Given the description of an element on the screen output the (x, y) to click on. 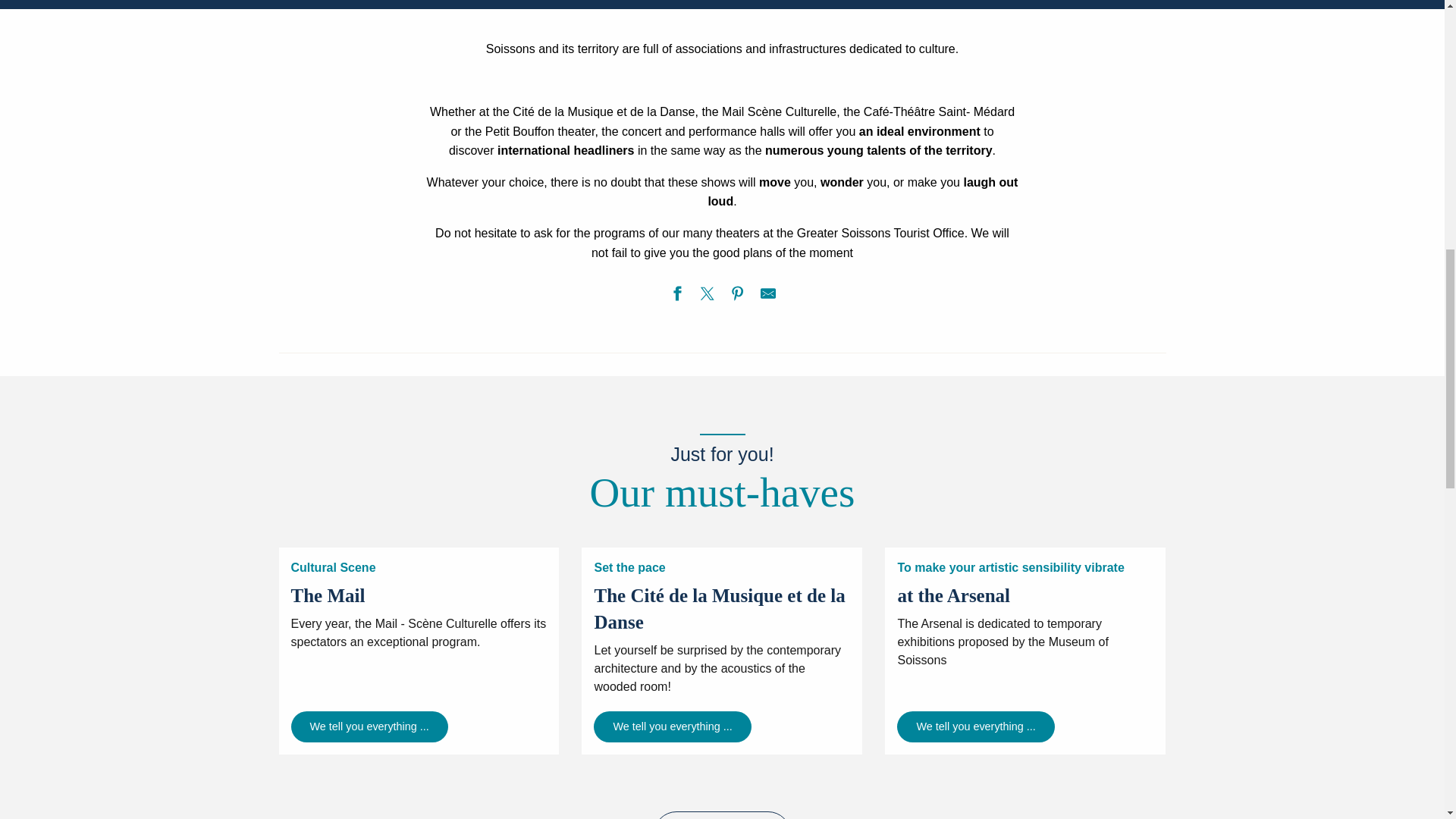
Share on Twitter (706, 296)
Share on Facebook (676, 296)
More culture (722, 815)
Share on Pinterest (736, 296)
Share by email (767, 296)
